Given the description of an element on the screen output the (x, y) to click on. 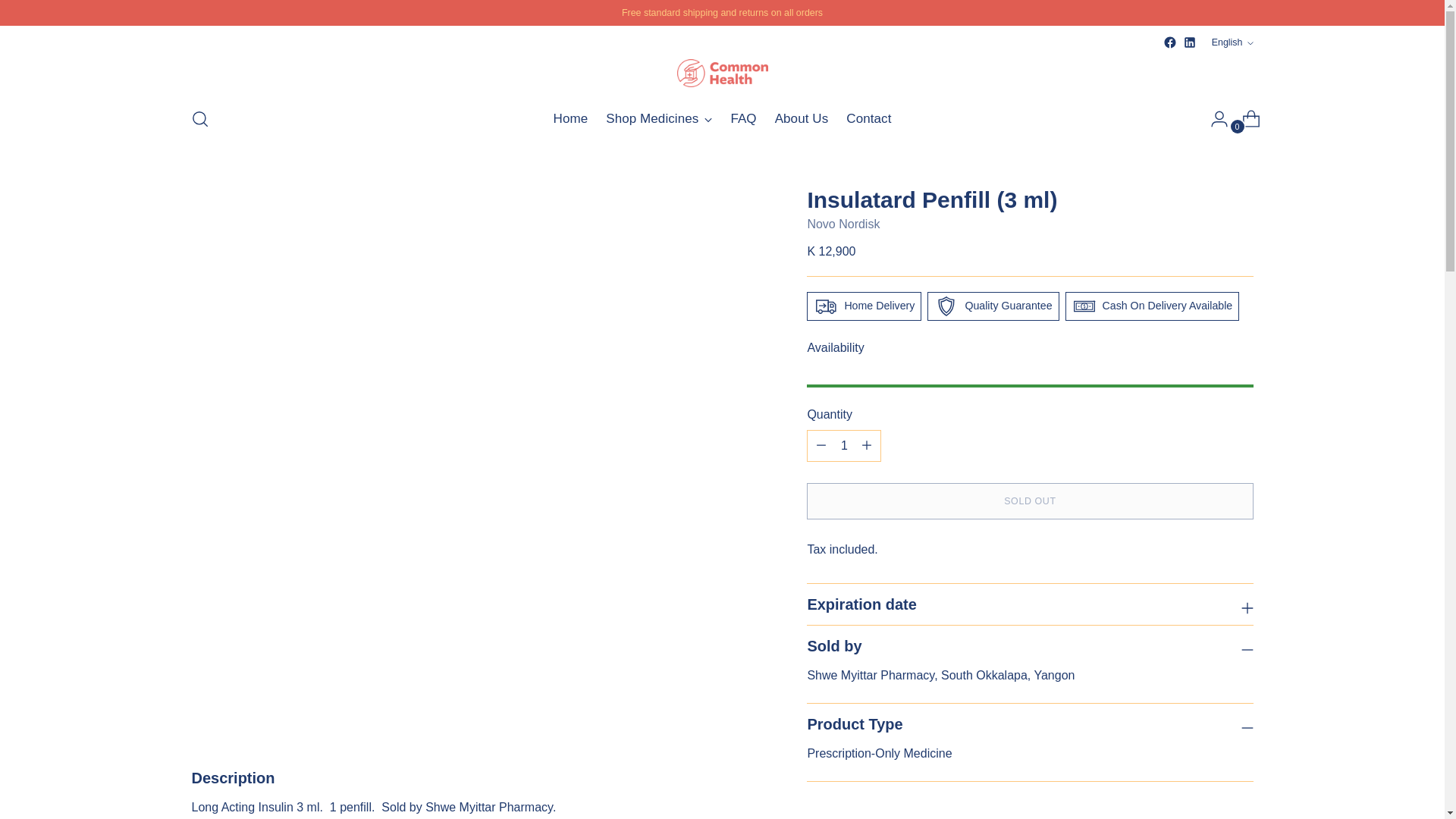
0 (1245, 119)
Common Health Myanmar on LinkedIn (1189, 42)
Common Health Myanmar on Facebook (1169, 42)
Shop Medicines (658, 118)
Home (570, 118)
Contact (868, 118)
Novo Nordisk (842, 223)
1 (722, 118)
English (843, 445)
